Given the description of an element on the screen output the (x, y) to click on. 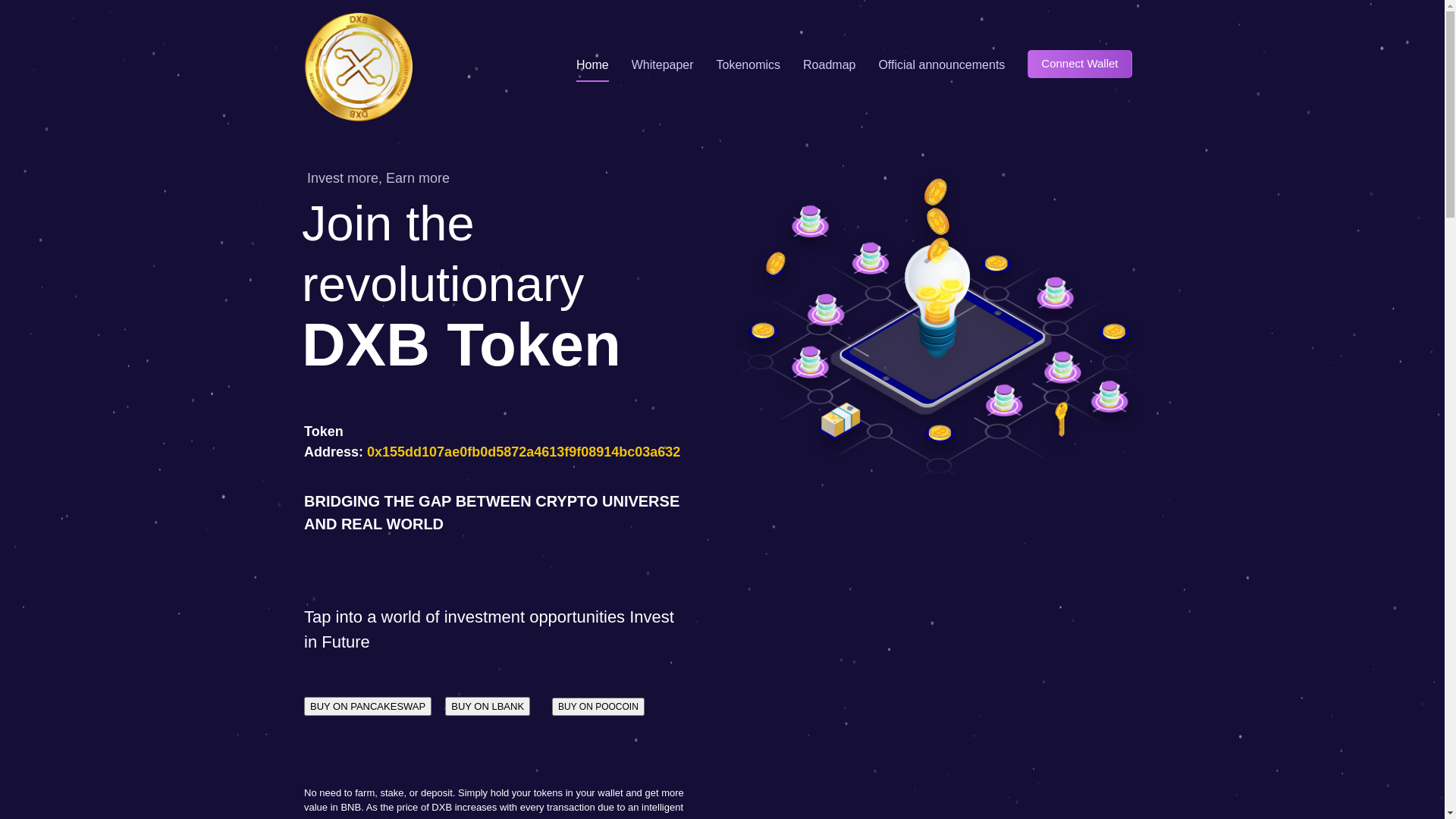
Home Element type: text (592, 65)
Roadmap Element type: text (829, 65)
Connect Wallet Element type: text (1079, 64)
Official announcements Element type: text (941, 65)
0x155dd107ae0fb0d5872a4613f9f08914bc03a632 Element type: text (523, 450)
Tokenomics Element type: text (748, 65)
Whitepaper Element type: text (662, 65)
